Given the description of an element on the screen output the (x, y) to click on. 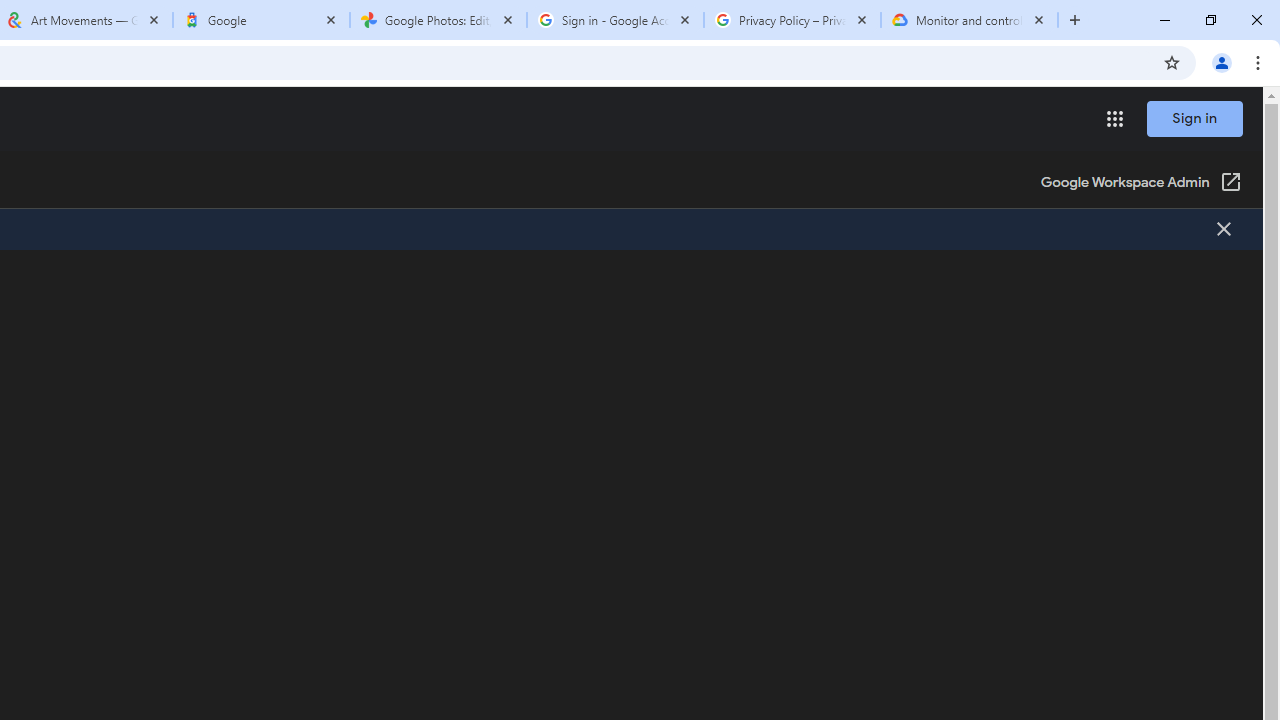
Google Workspace Admin (Open in a new window) (1140, 183)
Google (260, 20)
Sign in - Google Accounts (615, 20)
